Given the description of an element on the screen output the (x, y) to click on. 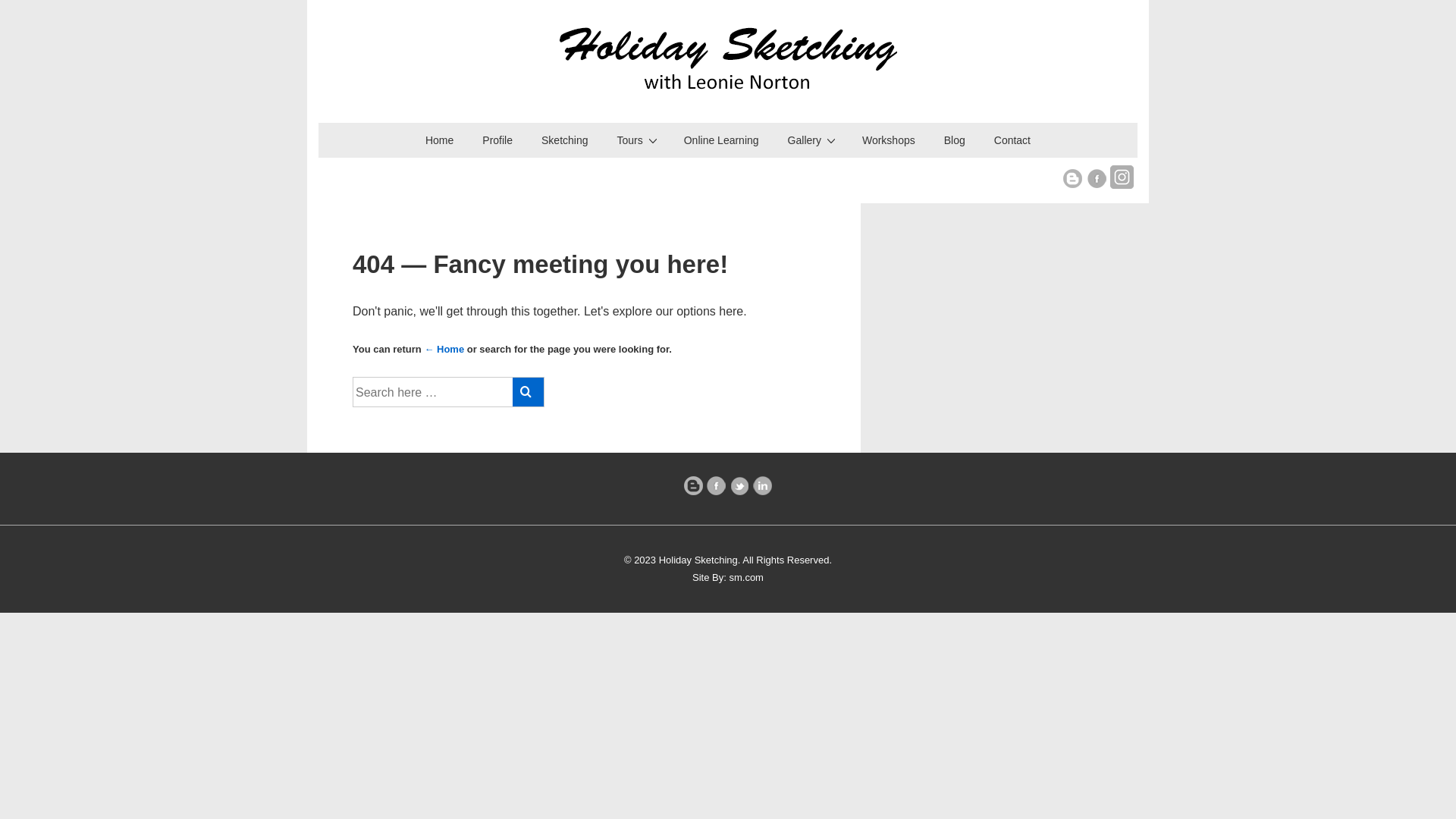
Online Learning Element type: text (721, 140)
Search Element type: text (527, 391)
Gallery Element type: text (810, 140)
Profile Element type: text (497, 140)
Home Element type: text (439, 140)
Workshops Element type: text (888, 140)
Blog Element type: text (954, 140)
Tours Element type: text (635, 140)
Contact Element type: text (1012, 140)
Sketching Element type: text (564, 140)
